Given the description of an element on the screen output the (x, y) to click on. 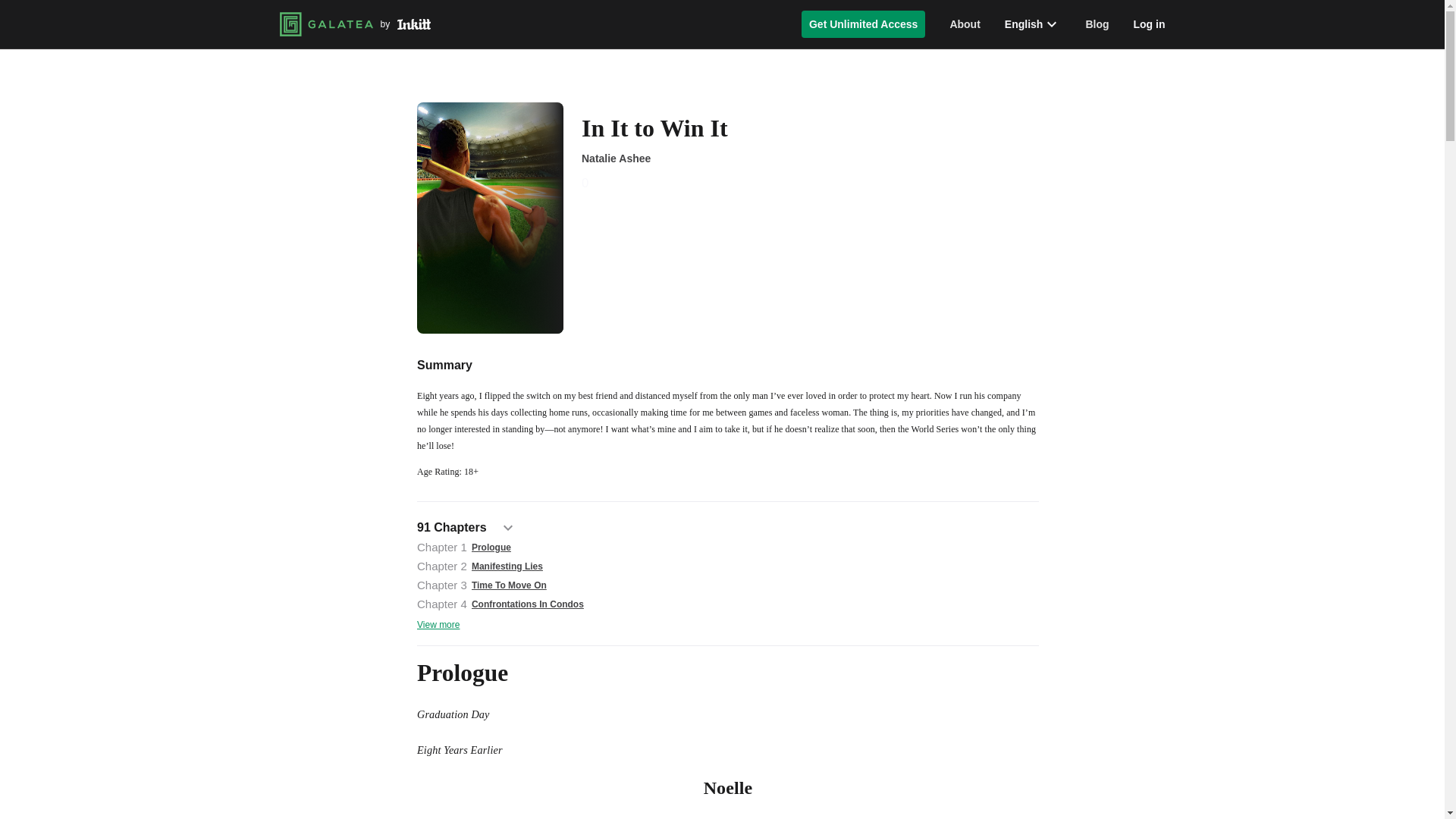
by (354, 23)
Get Unlimited Access (863, 23)
View more (438, 624)
Log in (1148, 24)
Prologue (491, 546)
Blog (1096, 24)
English (1032, 24)
Manifesting Lies (507, 566)
Time To Move On (509, 584)
About (964, 24)
Confrontations In Condos (527, 603)
